Given the description of an element on the screen output the (x, y) to click on. 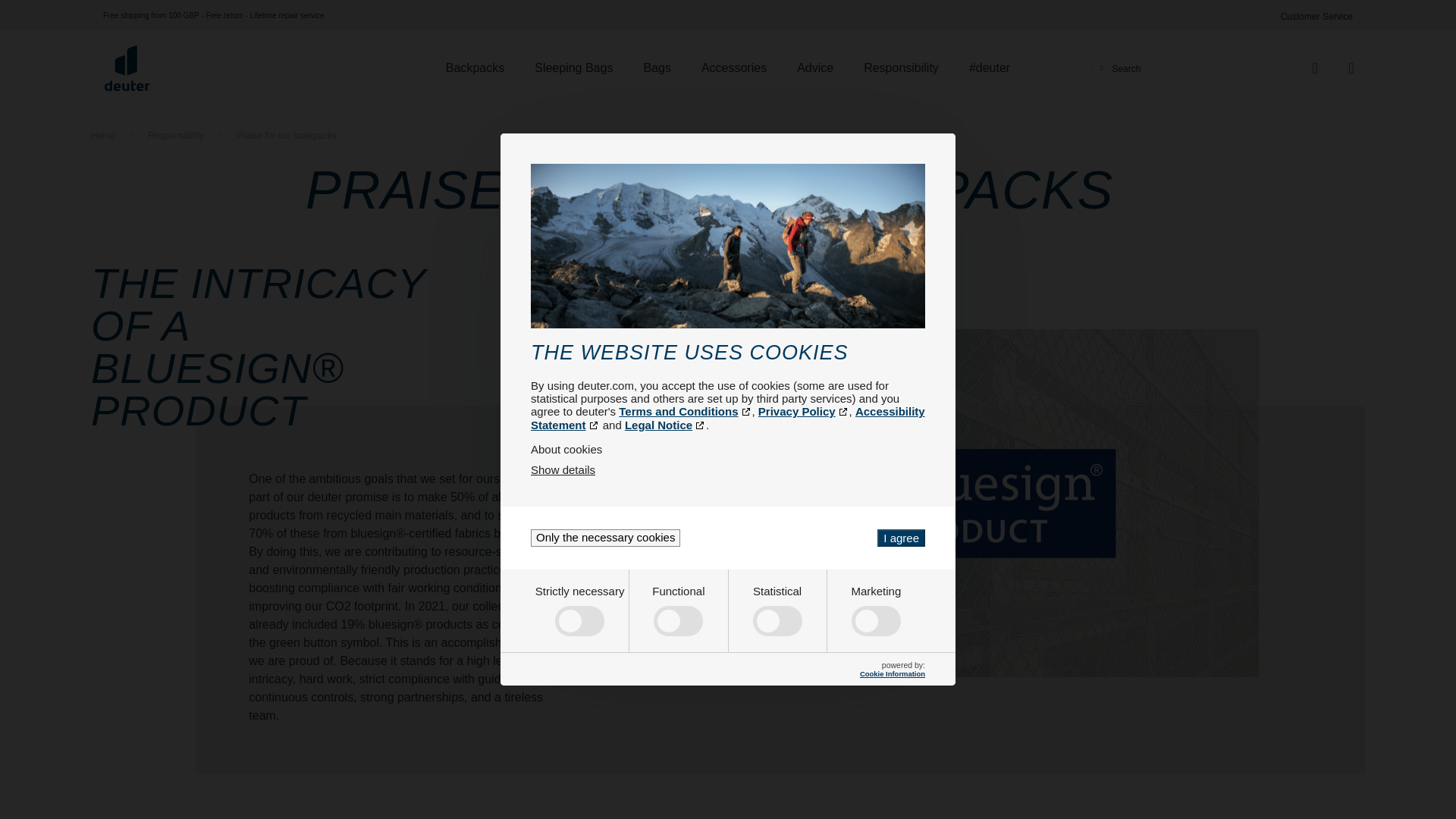
opens in a new tab (803, 410)
Show details (563, 469)
About cookies (727, 449)
Privacy Policy (803, 410)
Accessibility Statement (727, 417)
opens in a new tab (727, 417)
opens in a new tab (684, 410)
opens in a new tab (665, 424)
Terms and Conditions (684, 410)
Deuter Logo (126, 67)
